Given the description of an element on the screen output the (x, y) to click on. 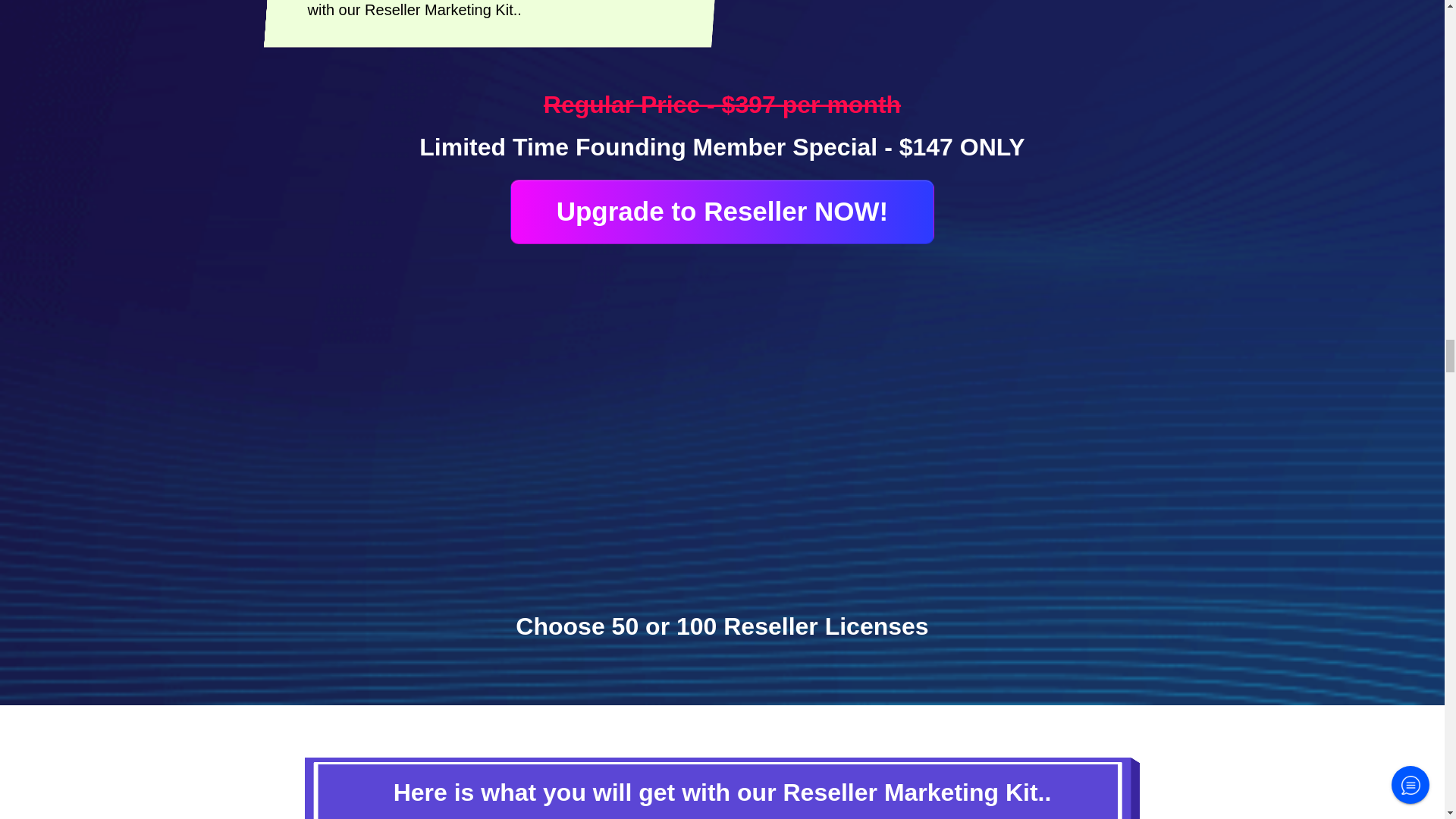
Upgrade to Reseller NOW! (722, 211)
